Given the description of an element on the screen output the (x, y) to click on. 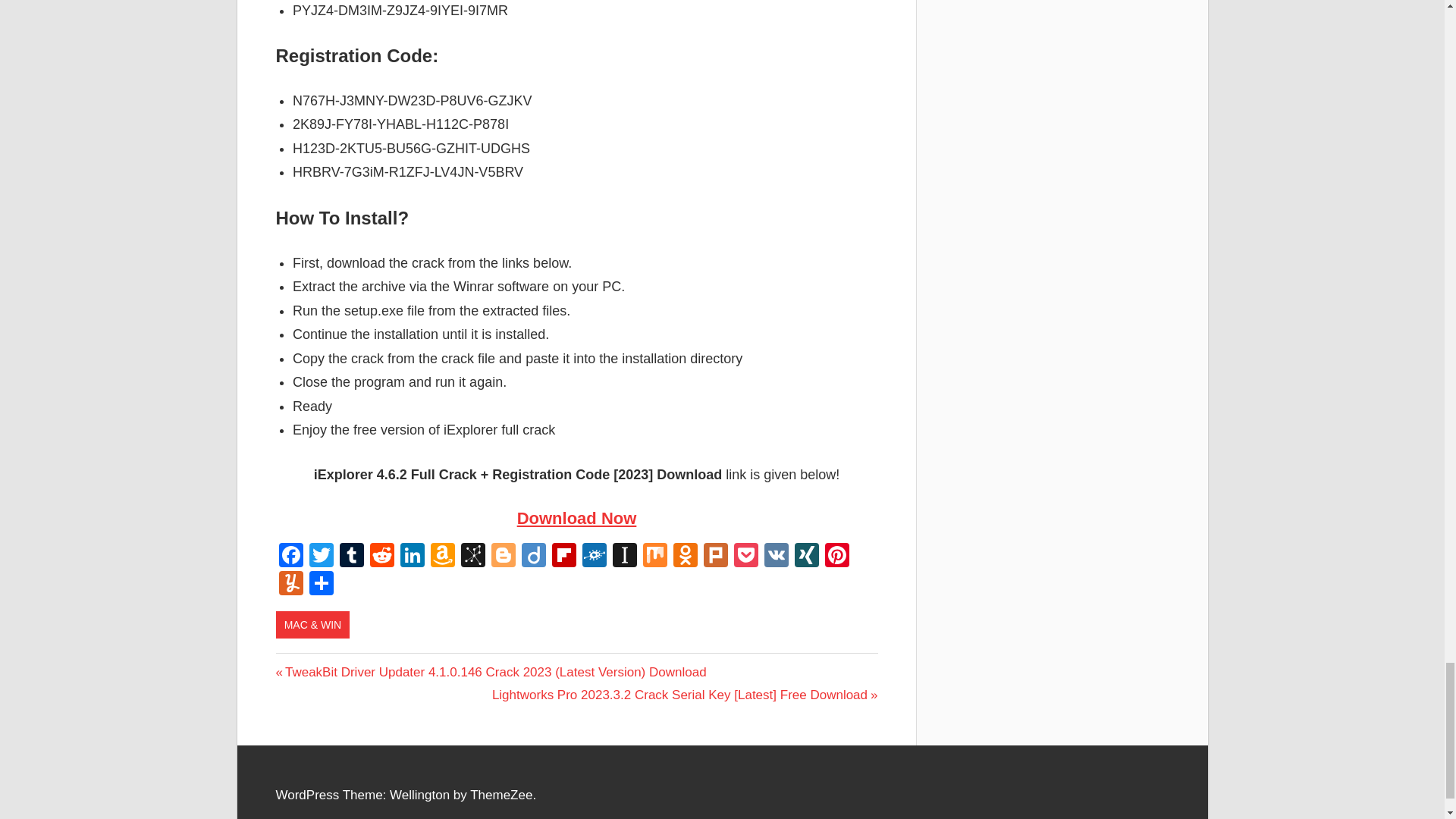
Amazon Wish List (443, 556)
Tumblr (351, 556)
Instapaper (625, 556)
LinkedIn (412, 556)
XING (807, 556)
Amazon Wish List (443, 556)
Download Now (576, 517)
VK (776, 556)
Facebook (290, 556)
Flipboard (563, 556)
